Given the description of an element on the screen output the (x, y) to click on. 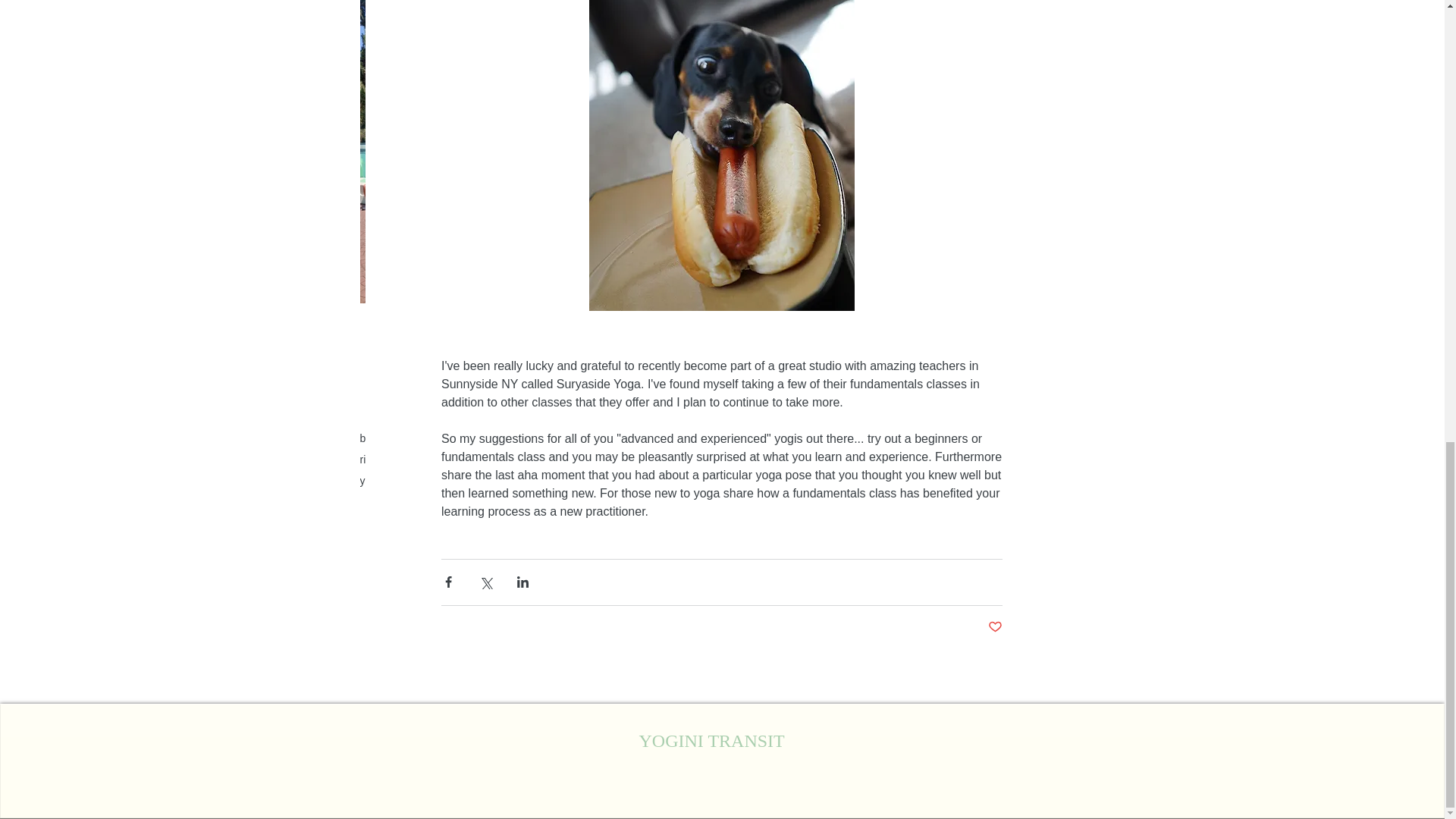
Delhi (425, 438)
YTT (538, 480)
Ganga Aarti (562, 438)
Mediation (784, 438)
Indian Wedding (667, 438)
India (611, 438)
Post not marked as liked (994, 627)
Vinyasa Yogashala (647, 459)
Saturn Return (443, 459)
Ekam Yogashala (485, 438)
yoga (712, 459)
yoga teacher training (408, 480)
rishikesh (380, 459)
Every Garden Begins With Cultivation. (958, 342)
